Given the description of an element on the screen output the (x, y) to click on. 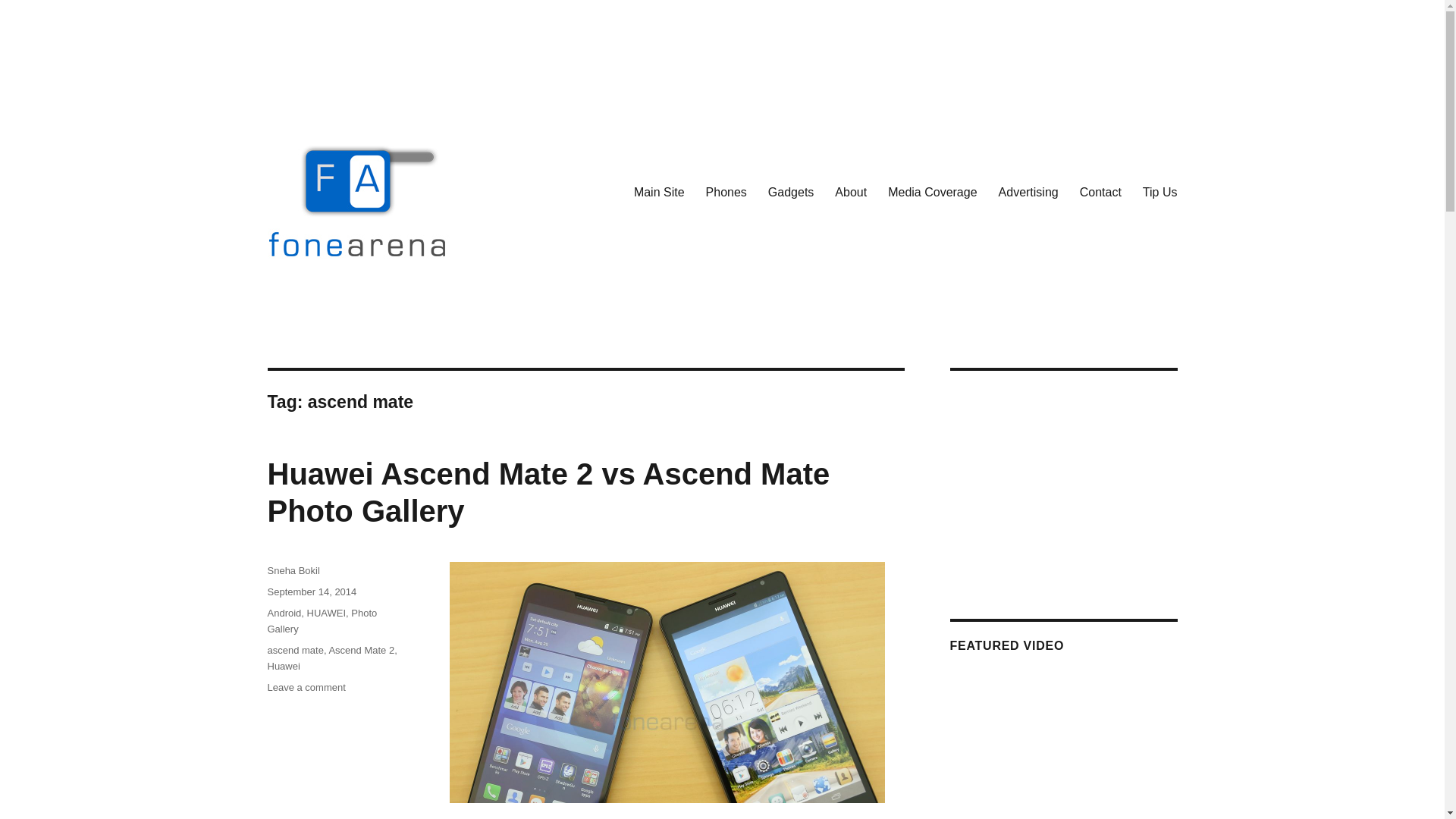
Android (283, 613)
Phones (726, 192)
Main Site (659, 192)
HUAWEI (326, 613)
Gadgets (790, 192)
Media Coverage (932, 192)
ascend mate (294, 650)
Ascend Mate 2 (361, 650)
Huawei Ascend Mate 2 vs Ascend Mate Photo Gallery (547, 492)
About (850, 192)
Tip Us (1160, 192)
Advertising (1028, 192)
Contact (1100, 192)
September 14, 2014 (311, 591)
Photo Gallery (321, 620)
